Given the description of an element on the screen output the (x, y) to click on. 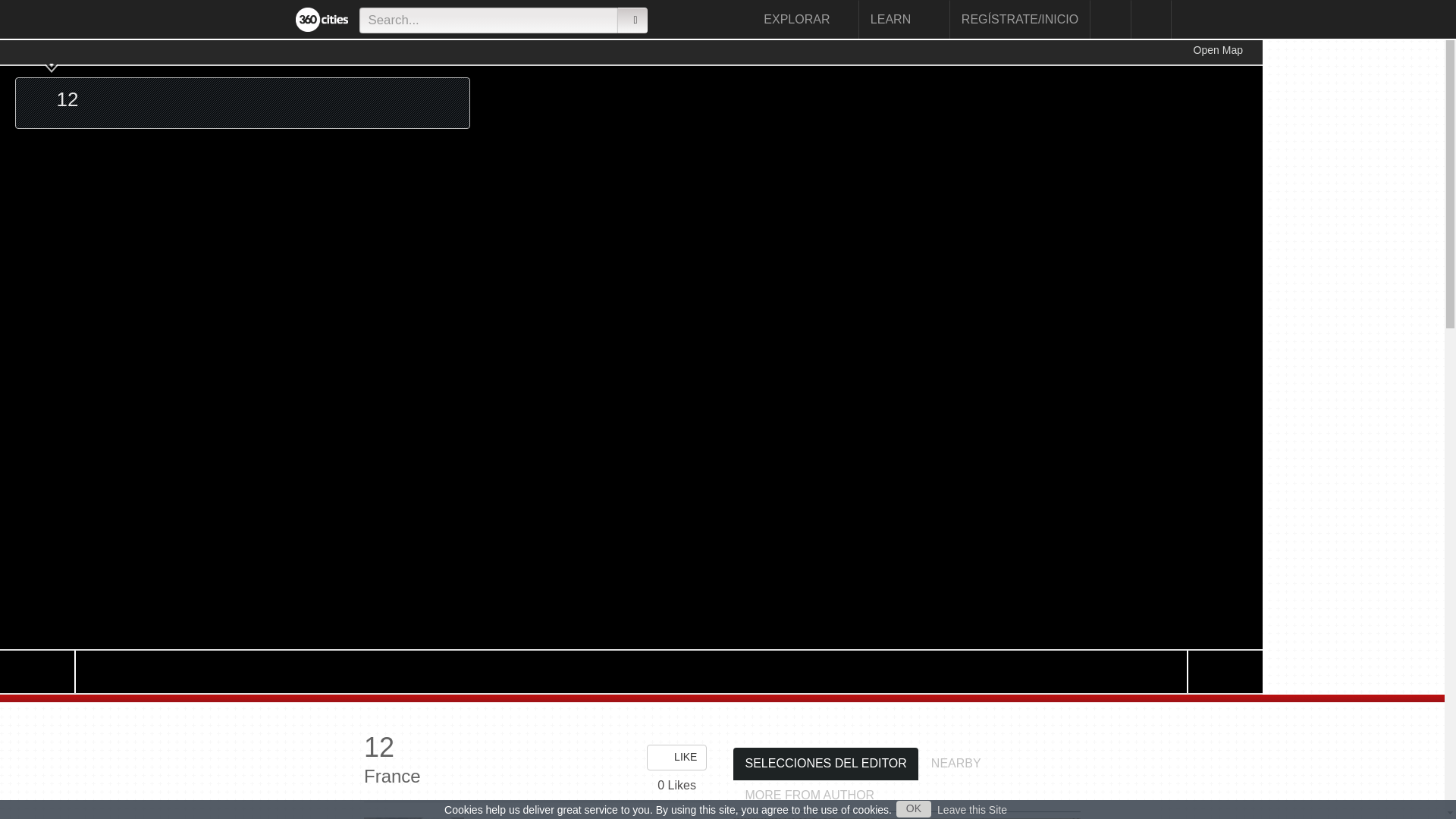
LEARN (904, 19)
EXPLORAR (805, 19)
Advertisement (1338, 266)
